Given the description of an element on the screen output the (x, y) to click on. 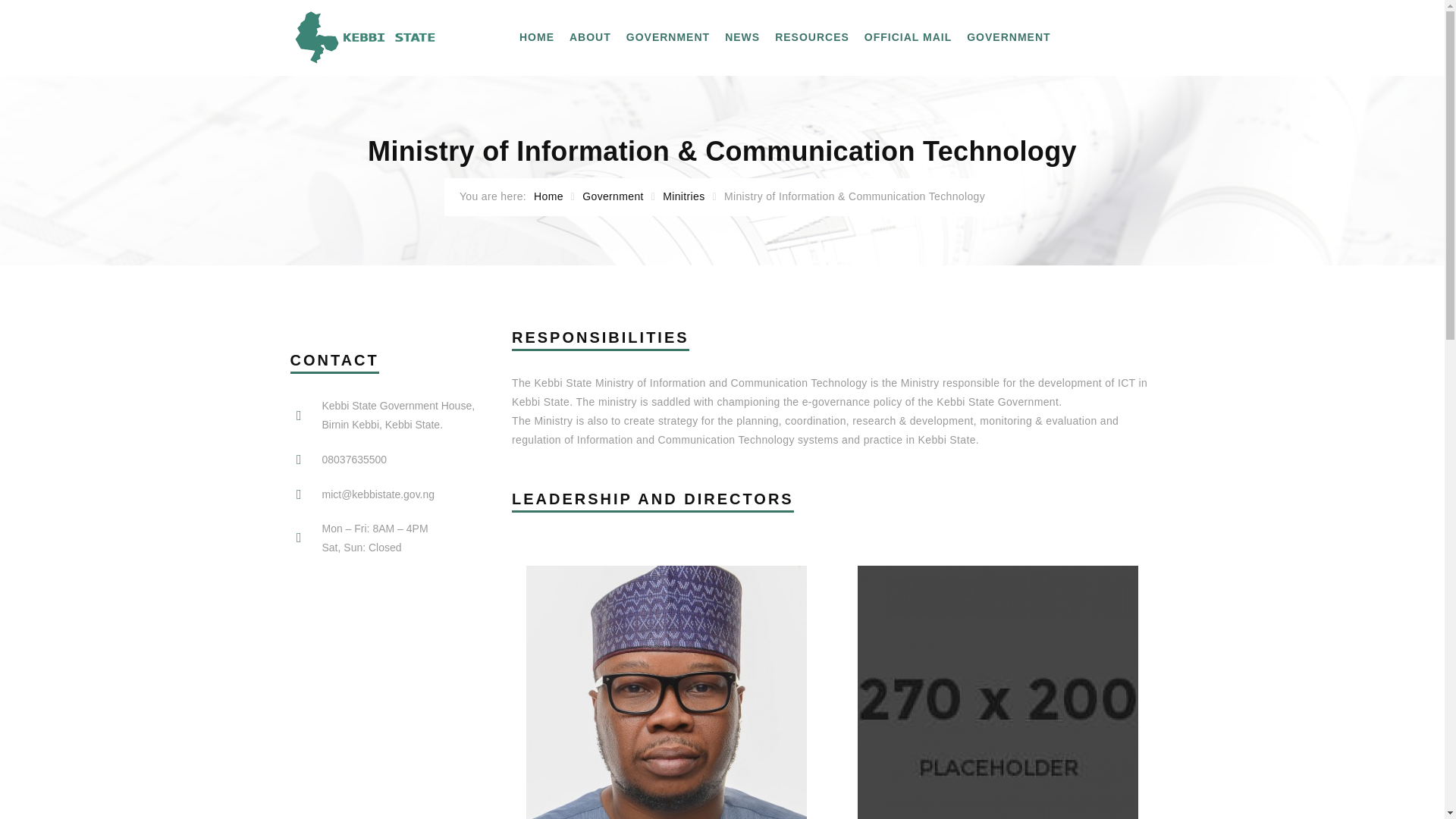
GOVERNMENT (668, 38)
